Given the description of an element on the screen output the (x, y) to click on. 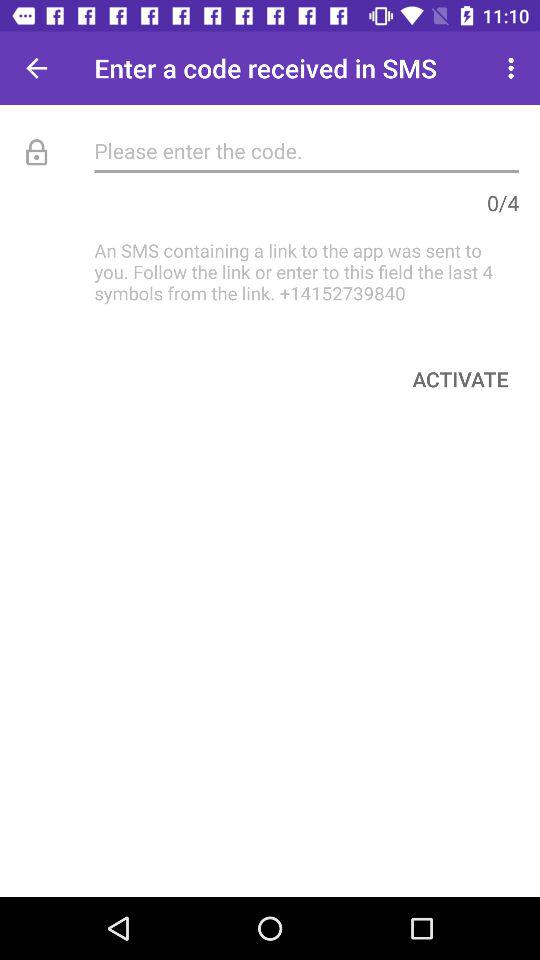
tap the icon next to enter a code (36, 68)
